Given the description of an element on the screen output the (x, y) to click on. 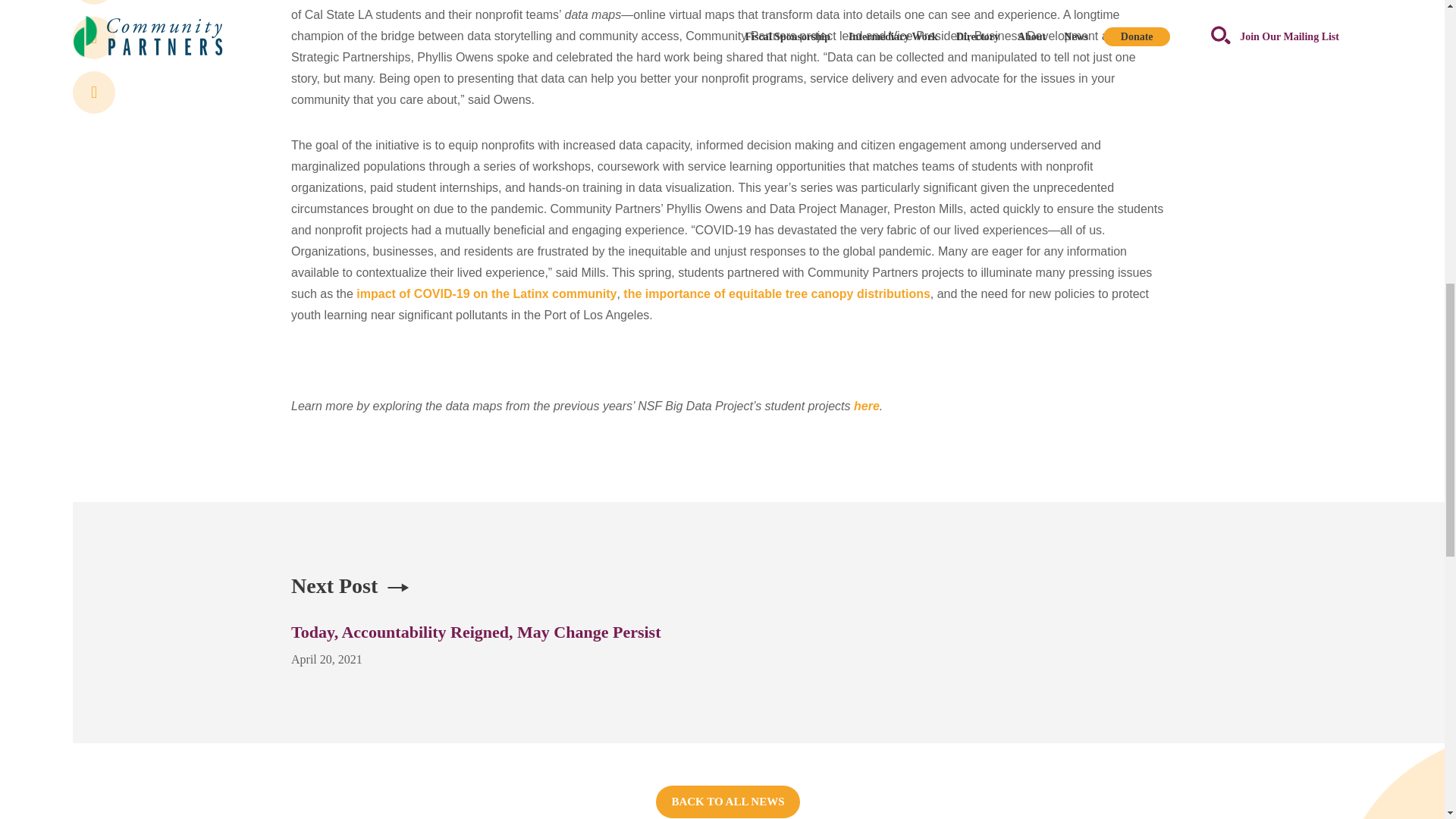
BACK TO ALL NEWS (727, 801)
the importance of equitable tree canopy distributions (776, 293)
Next Post (334, 585)
impact of COVID-19 on the Latinx community (485, 293)
Today, Accountability Reigned, May Change Persist (476, 631)
here (866, 405)
Today, Accountability Reigned, May Change Persist (476, 631)
